Given the description of an element on the screen output the (x, y) to click on. 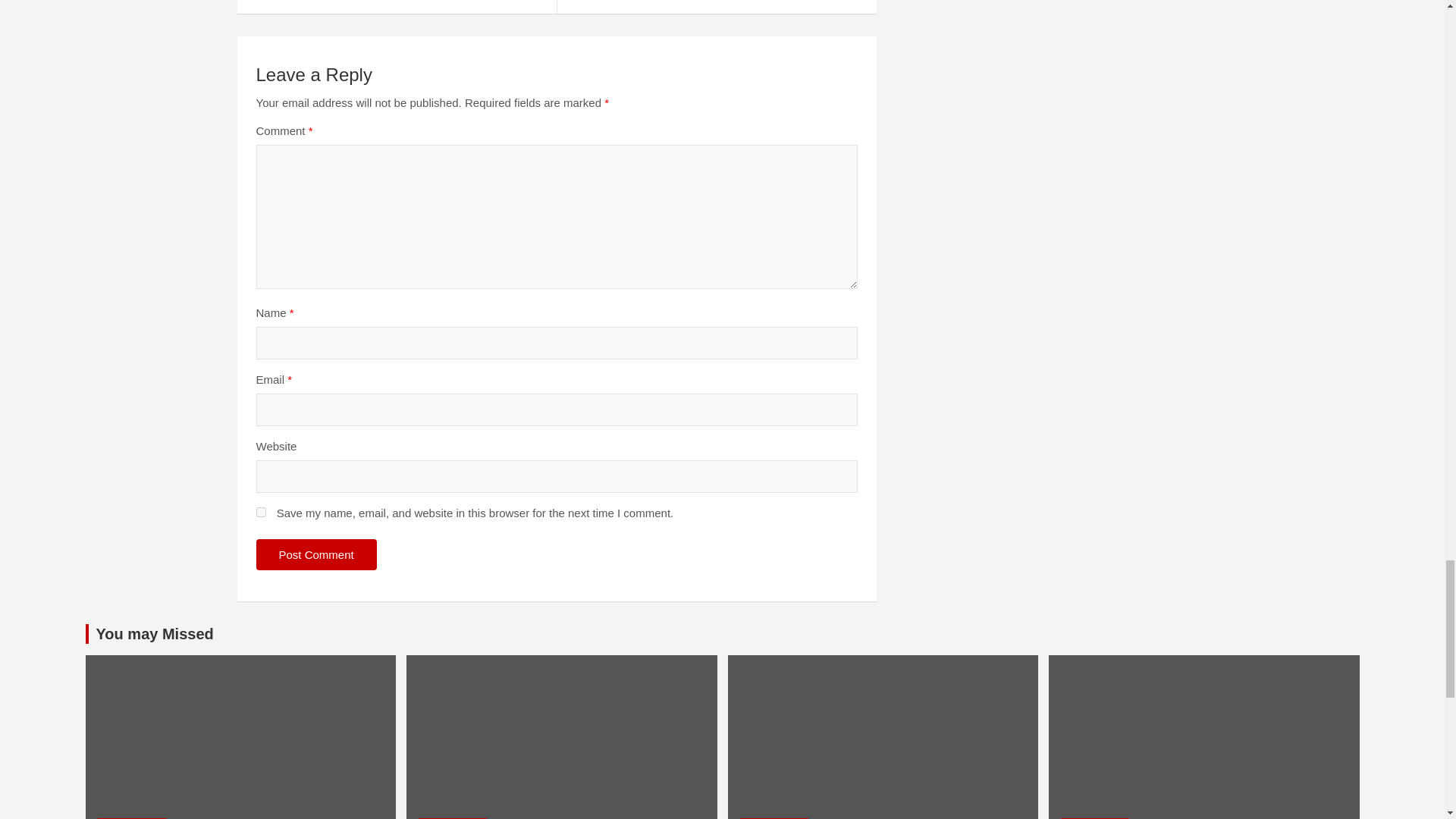
Post Comment (316, 554)
yes (261, 511)
